Given the description of an element on the screen output the (x, y) to click on. 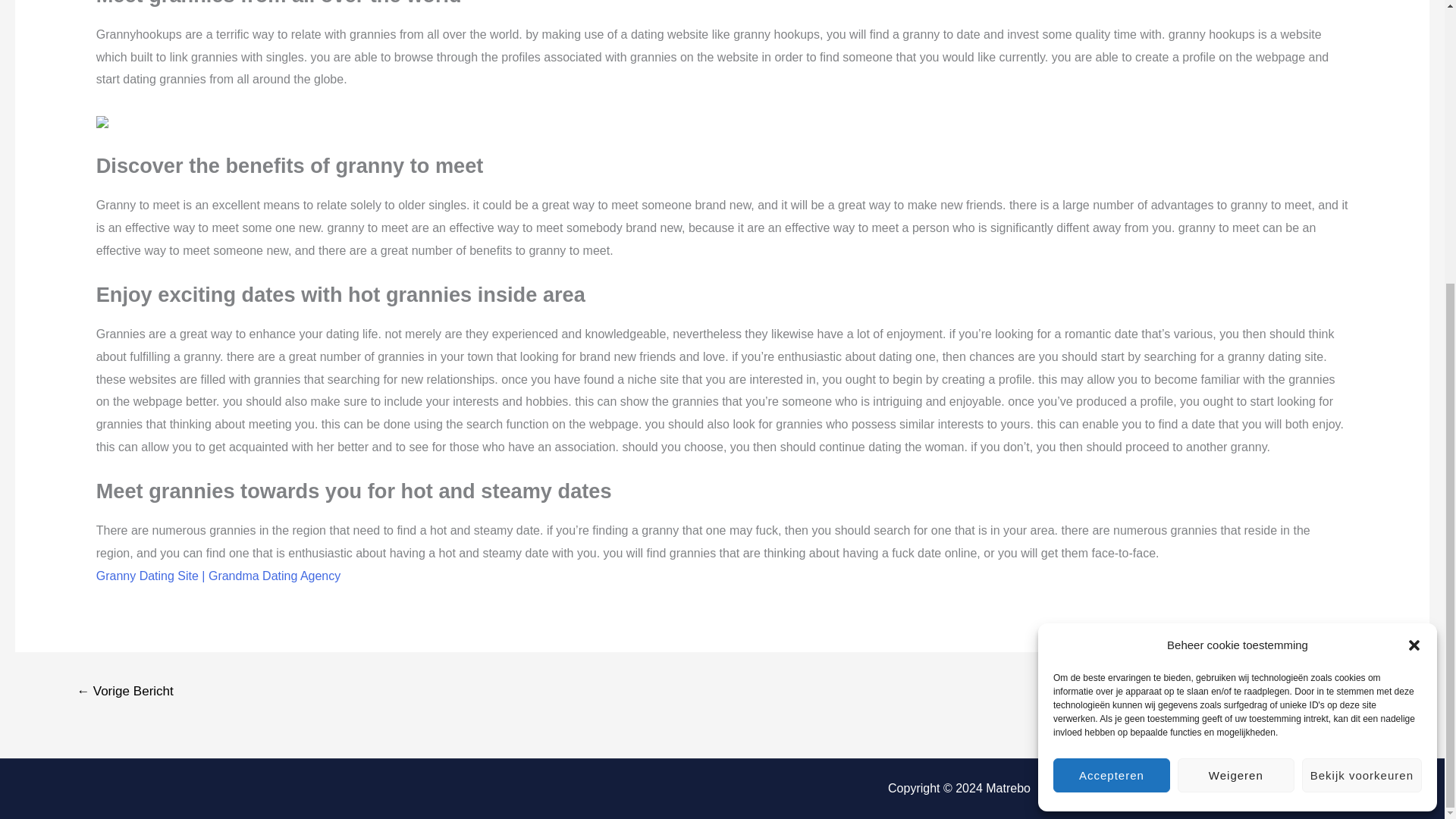
Weigeren (1235, 349)
Accepteren (1111, 349)
Bekijk voorkeuren (1361, 349)
